Given the description of an element on the screen output the (x, y) to click on. 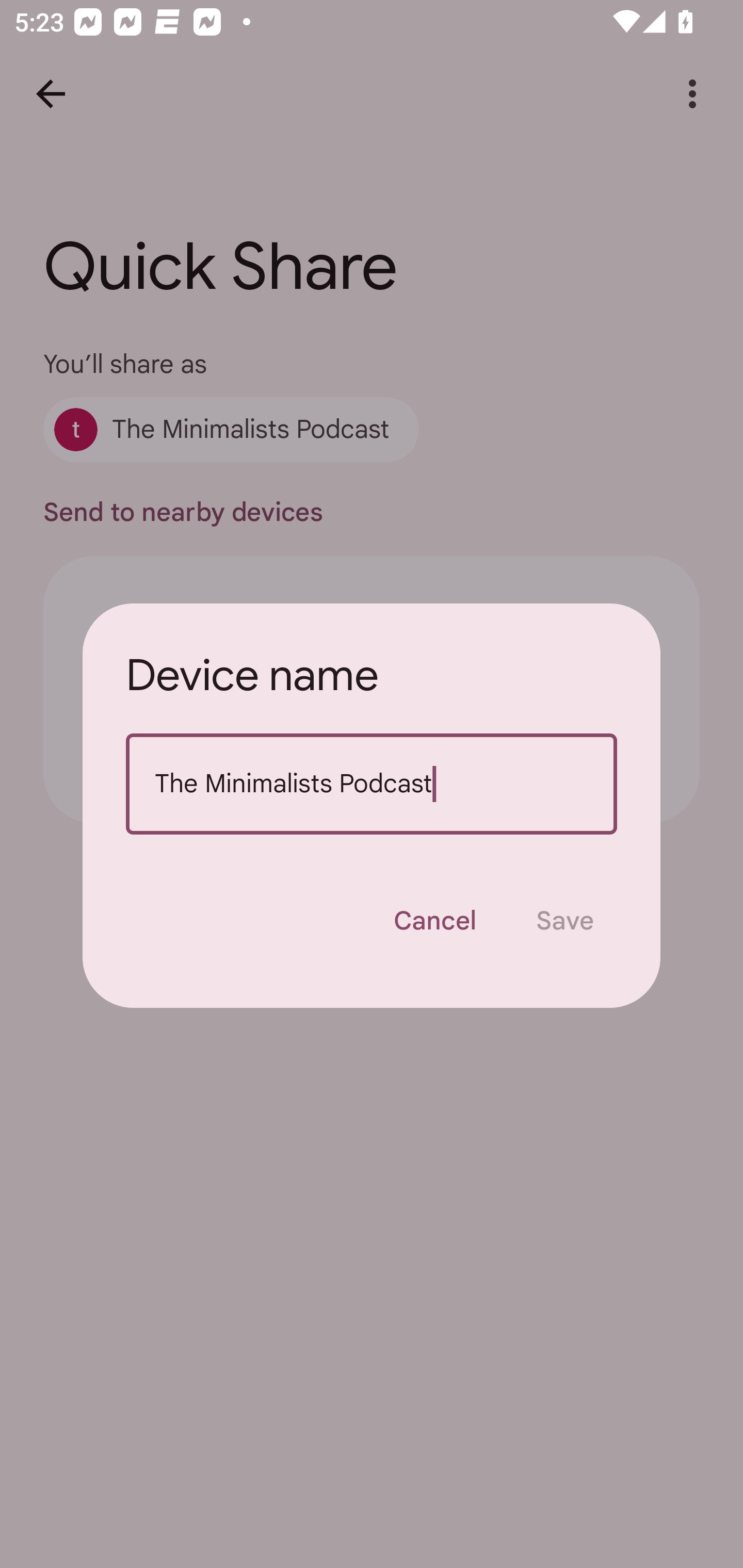
The Minimalists Podcast Device name (371, 783)
Cancel (434, 921)
Save (564, 921)
